Given the description of an element on the screen output the (x, y) to click on. 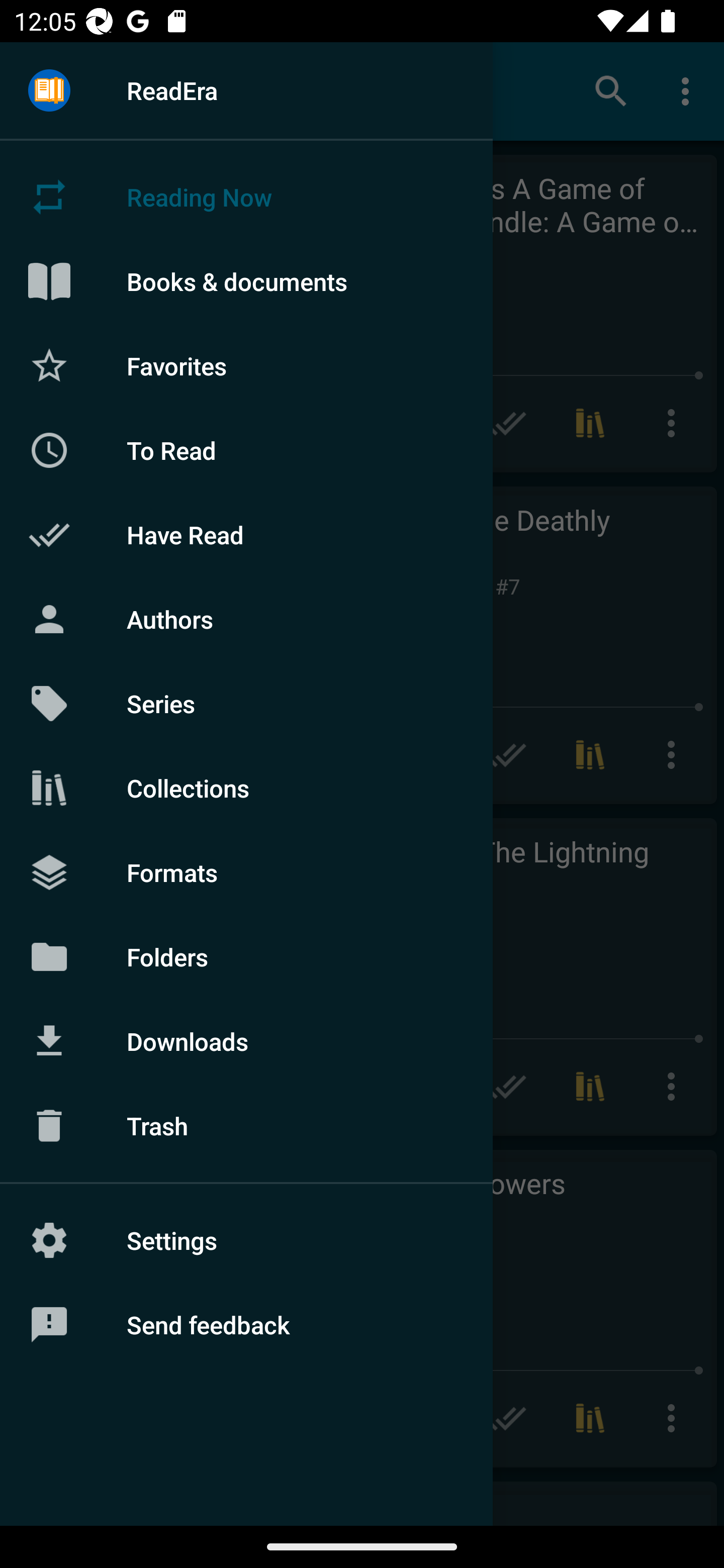
Menu (49, 91)
ReadEra (246, 89)
Search books & documents (611, 90)
More options (688, 90)
Reading Now (246, 197)
Books & documents (246, 281)
Favorites (246, 365)
To Read (246, 449)
Have Read (246, 534)
Authors (246, 619)
Series (246, 703)
Collections (246, 787)
Formats (246, 871)
Folders (246, 956)
Downloads (246, 1040)
Trash (246, 1125)
Settings (246, 1239)
Send feedback (246, 1324)
